Given the description of an element on the screen output the (x, y) to click on. 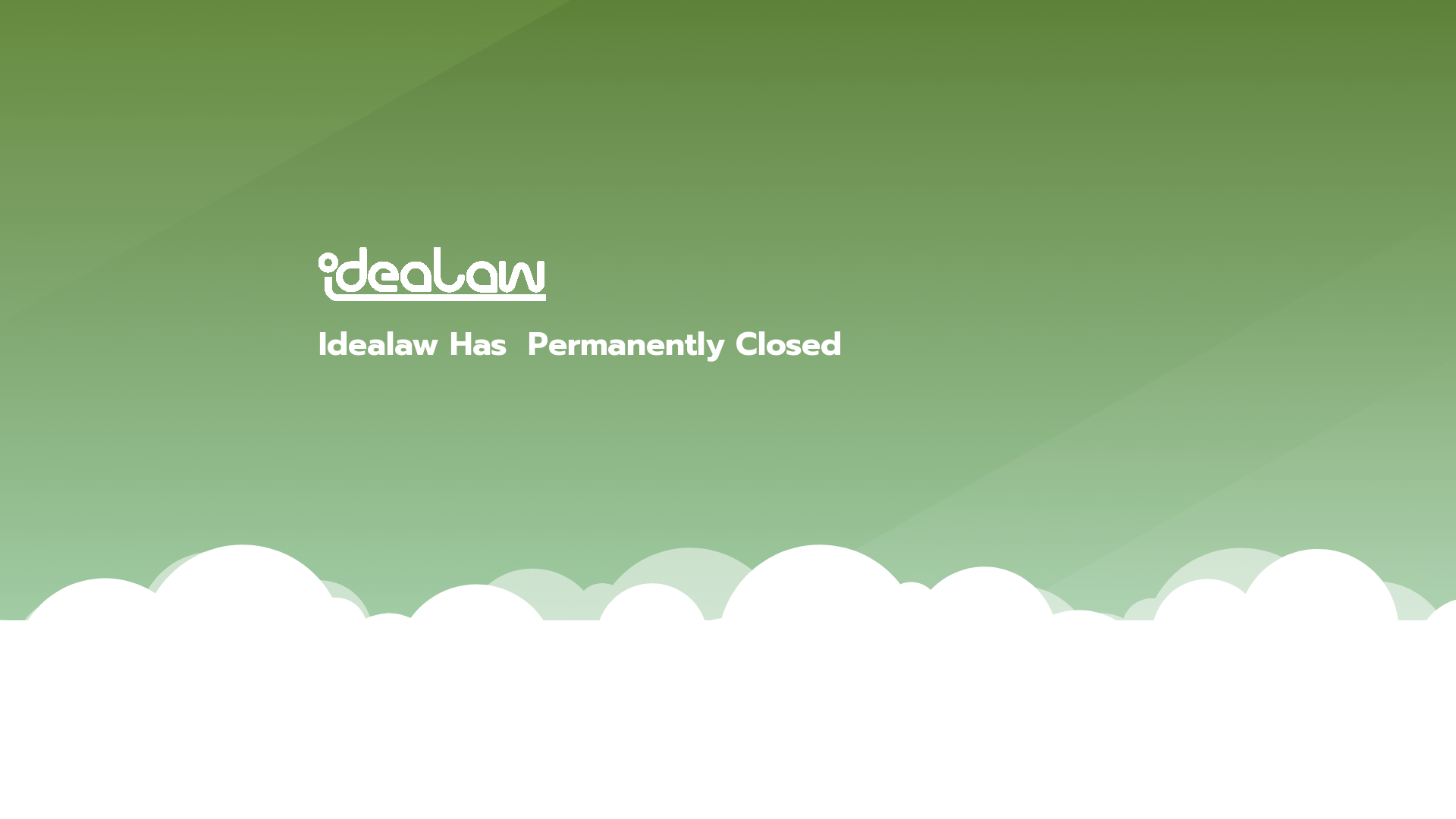
White-idealaw-logo Element type: hover (432, 274)
